Given the description of an element on the screen output the (x, y) to click on. 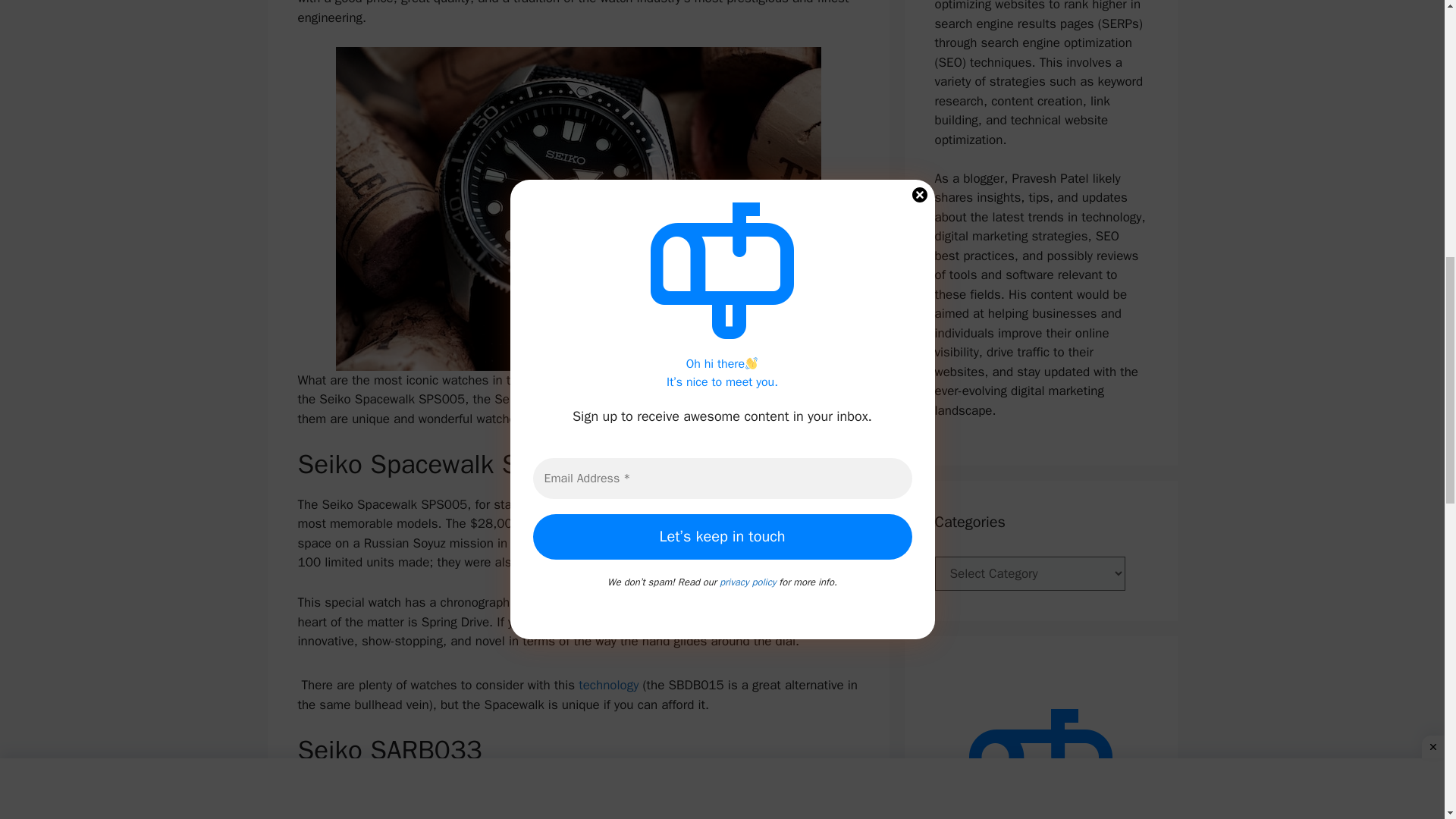
technology (608, 684)
